Given the description of an element on the screen output the (x, y) to click on. 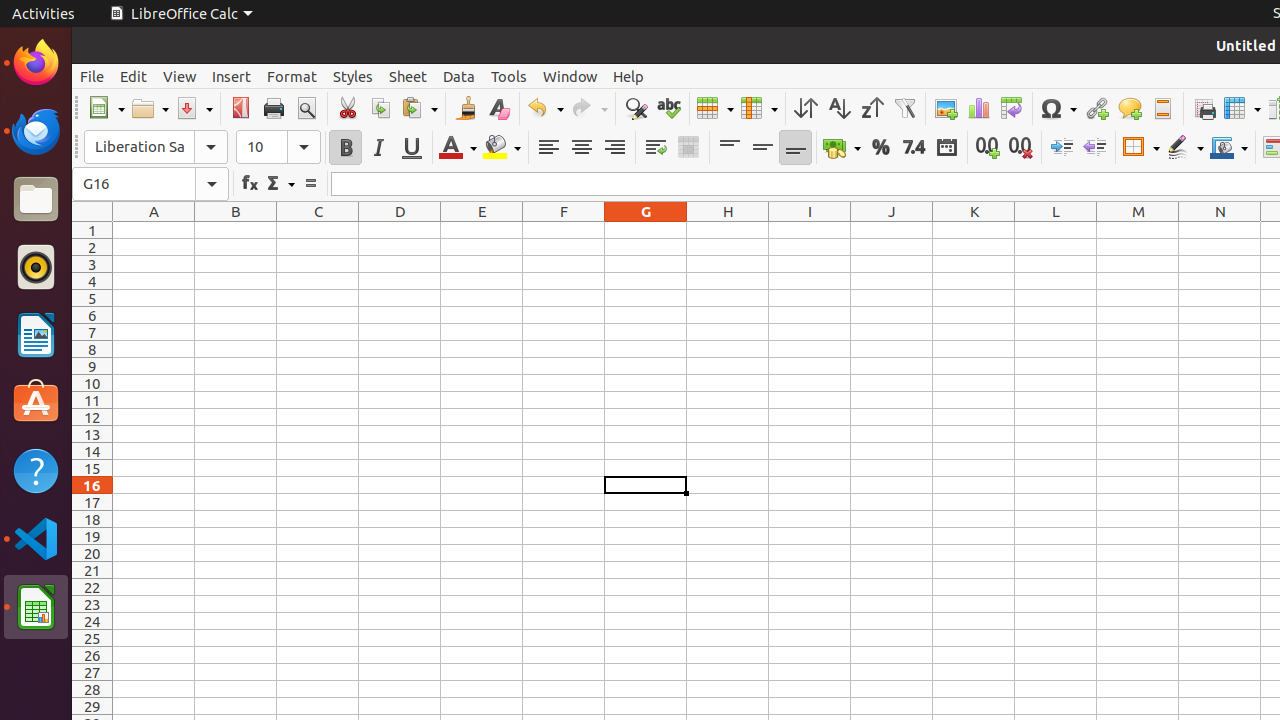
F1 Element type: table-cell (564, 230)
Center Vertically Element type: push-button (762, 147)
Bold Element type: toggle-button (345, 147)
Image Element type: push-button (945, 108)
Sheet Element type: menu (408, 76)
